Given the description of an element on the screen output the (x, y) to click on. 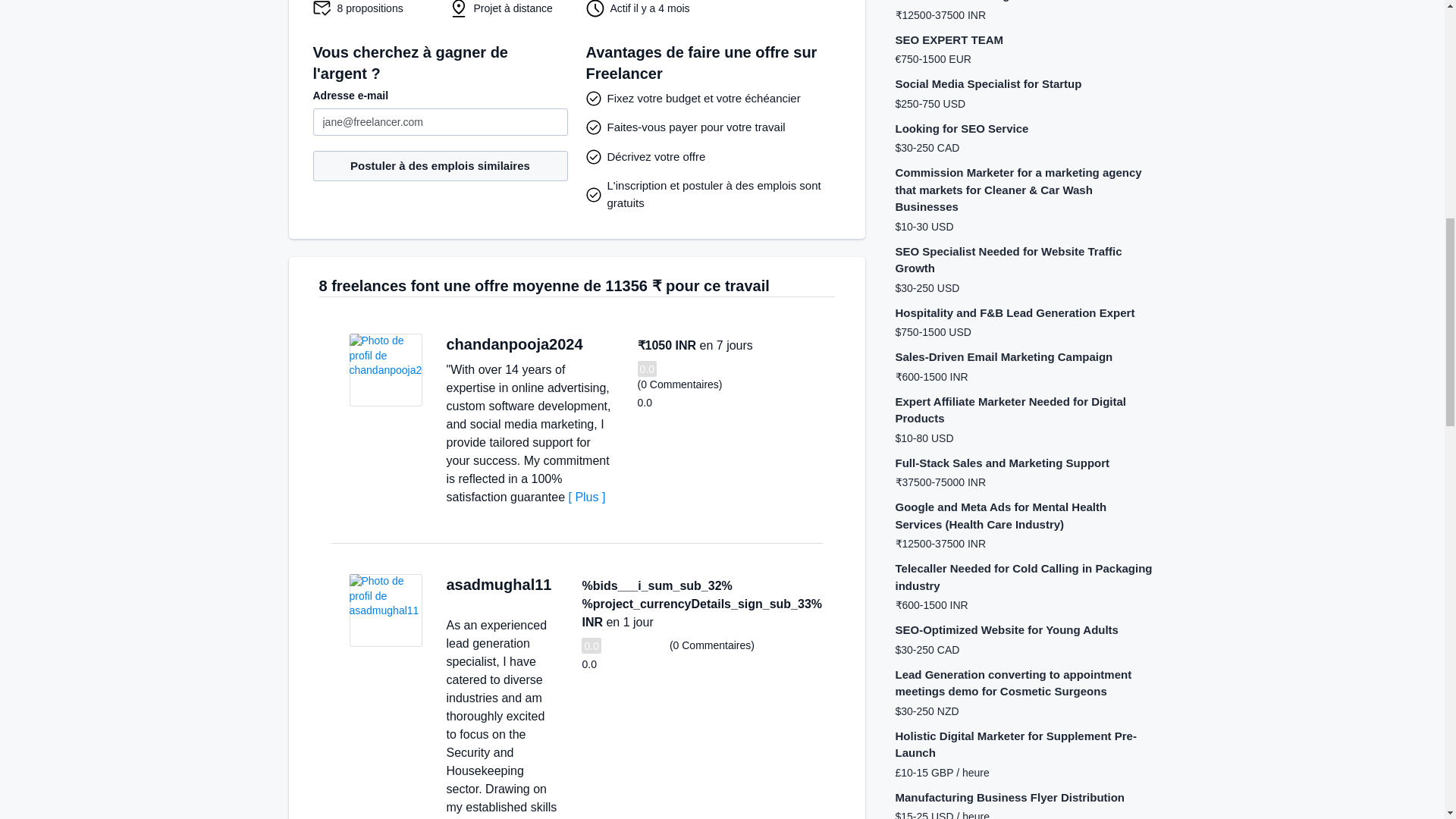
India (598, 344)
Plus (587, 496)
Voir le profil de asadmughal11 (385, 610)
Voir le profil de chandanpooja2024 (385, 369)
asadmughal11 (498, 584)
chandanpooja2024 (513, 343)
Pakistan (452, 601)
